Given the description of an element on the screen output the (x, y) to click on. 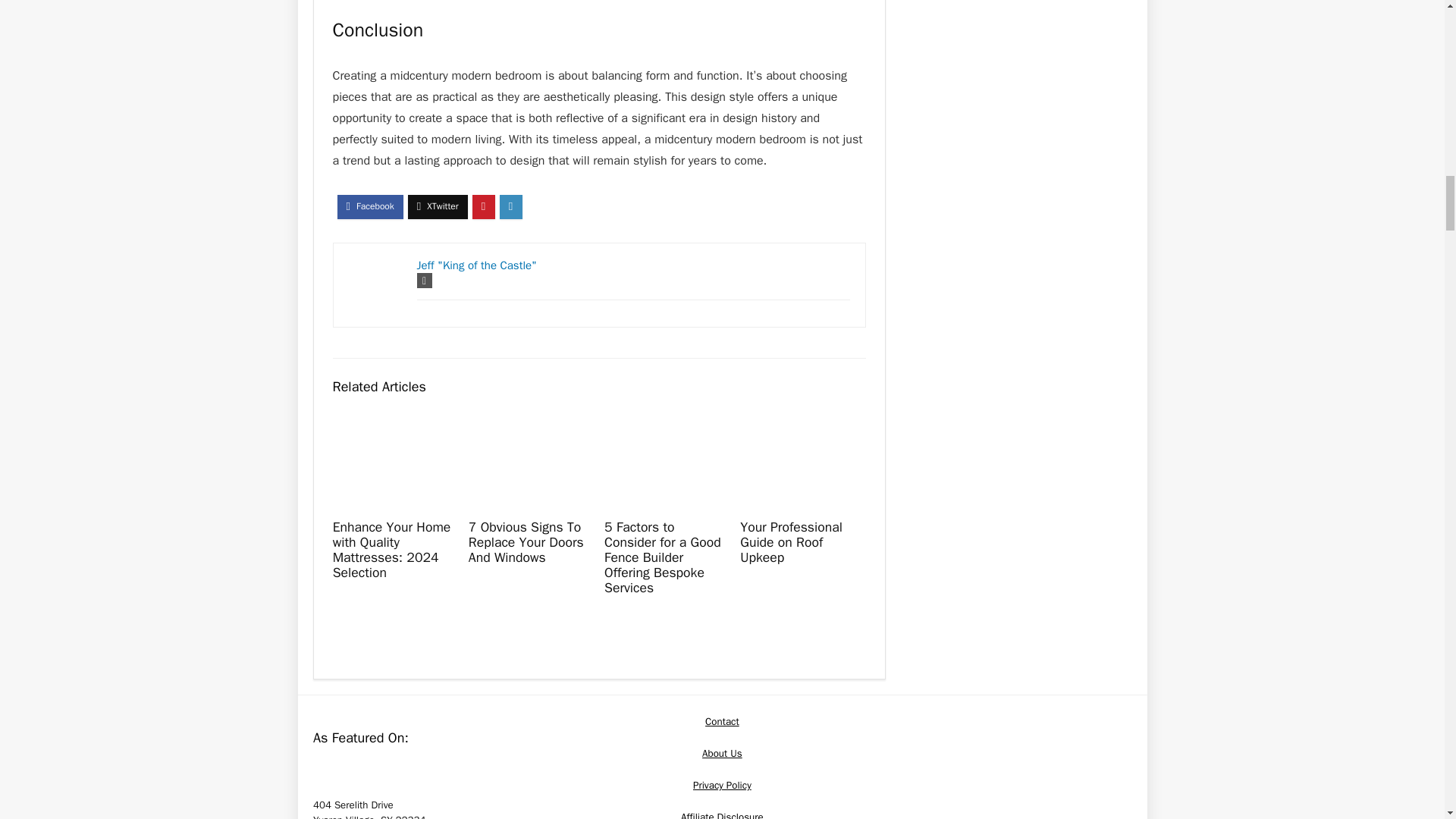
Your Professional Guide on Roof Upkeep (791, 541)
Enhance Your Home with Quality Mattresses: 2024 Selection (392, 549)
About Us (721, 753)
7 Obvious Signs To Replace Your Doors And Windows (525, 541)
Jeff "King of the Castle" (476, 264)
Contact (721, 721)
As Featured On: (426, 770)
